Given the description of an element on the screen output the (x, y) to click on. 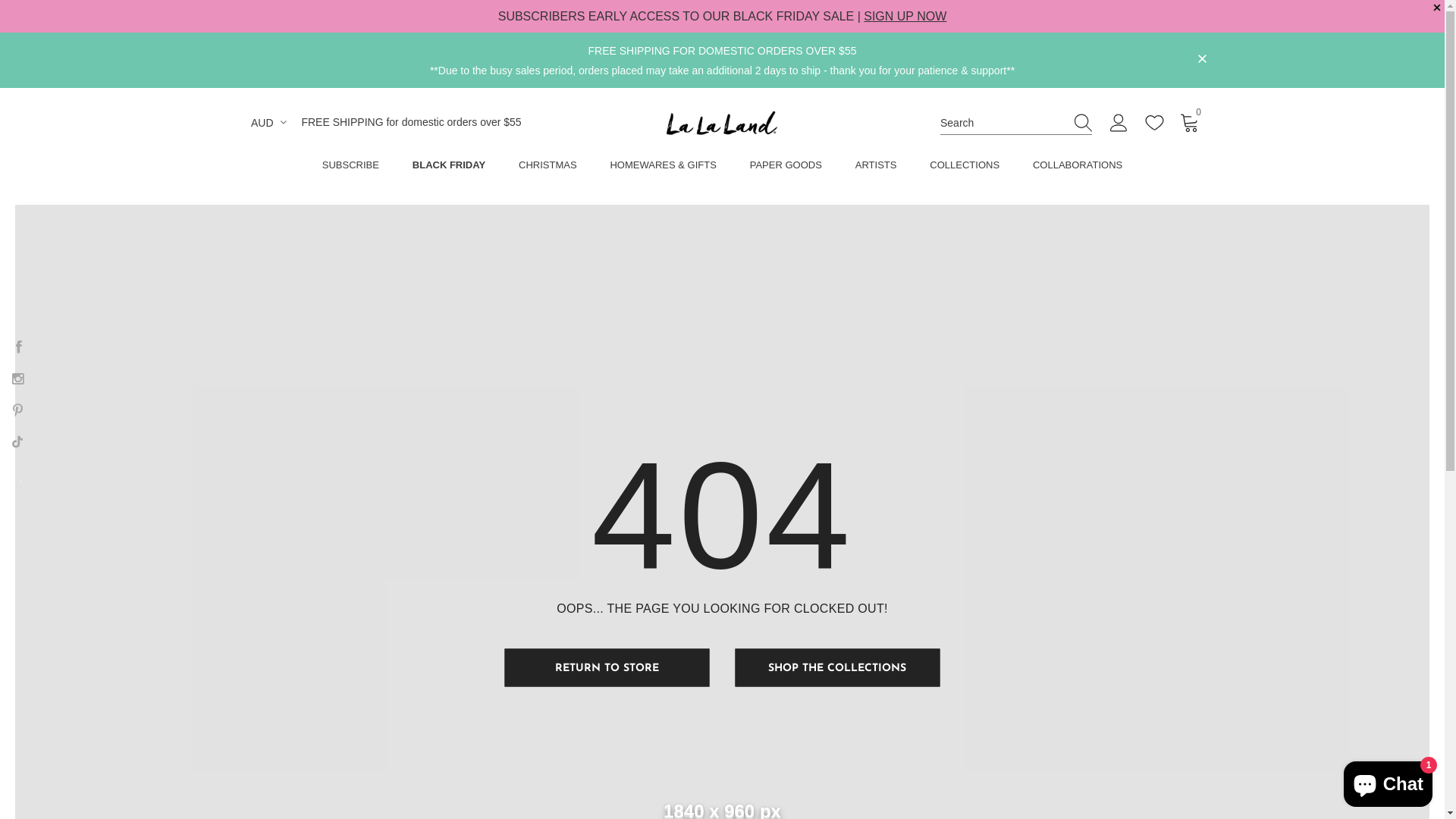
0 Element type: text (1189, 121)
SUBSCRIBE Element type: text (350, 167)
PAPER GOODS Element type: text (785, 167)
BLACK FRIDAY Element type: text (448, 167)
Pinterest Element type: hover (17, 409)
user Element type: text (1118, 125)
RETURN TO STORE Element type: text (607, 667)
COLLABORATIONS Element type: text (1077, 167)
close Element type: hover (1201, 58)
Tiktok Element type: hover (17, 441)
Logo Element type: hover (721, 122)
COLLECTIONS Element type: text (964, 167)
HOMEWARES & GIFTS Element type: text (662, 167)
SHOP THE COLLECTIONS Element type: text (836, 667)
CHRISTMAS Element type: text (547, 167)
Instagram Element type: hover (17, 377)
Shopify online store chat Element type: hover (1388, 780)
ARTISTS Element type: text (876, 167)
Facebook Element type: hover (18, 345)
